Given the description of an element on the screen output the (x, y) to click on. 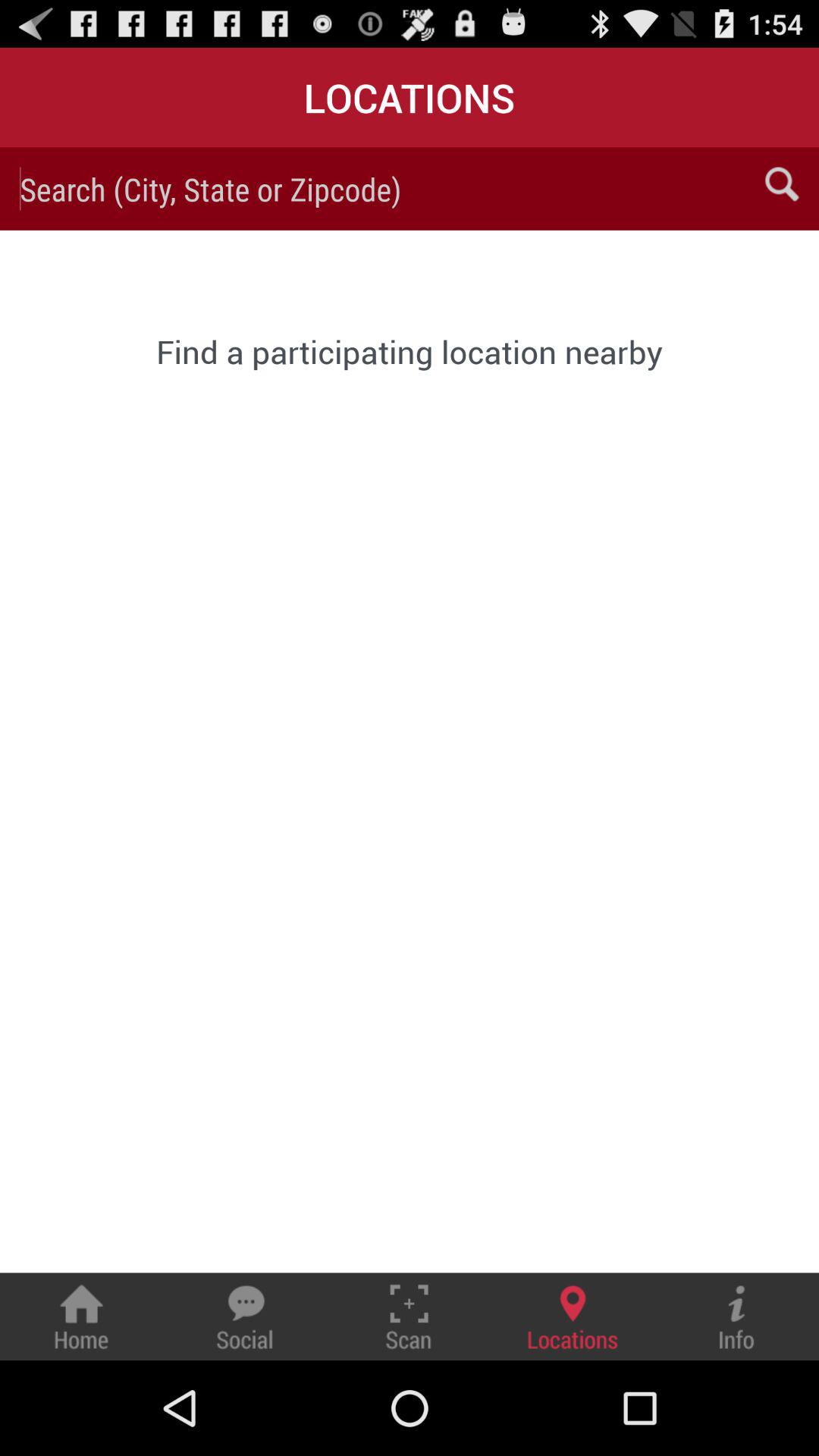
swipe to find a participating app (409, 351)
